Given the description of an element on the screen output the (x, y) to click on. 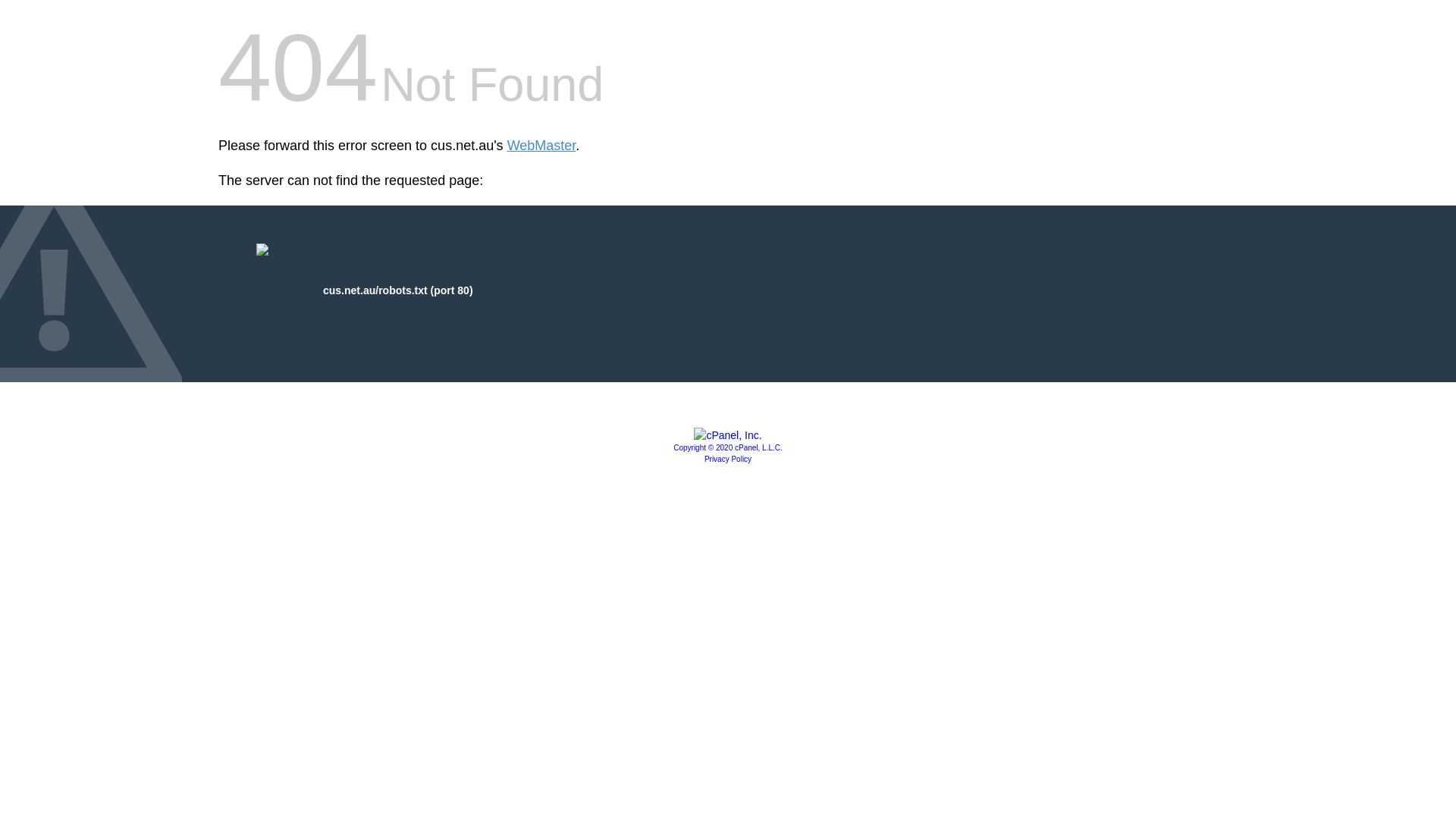
cPanel, Inc. Element type: hover (727, 435)
Privacy Policy Element type: text (727, 459)
WebMaster Element type: text (541, 145)
